Given the description of an element on the screen output the (x, y) to click on. 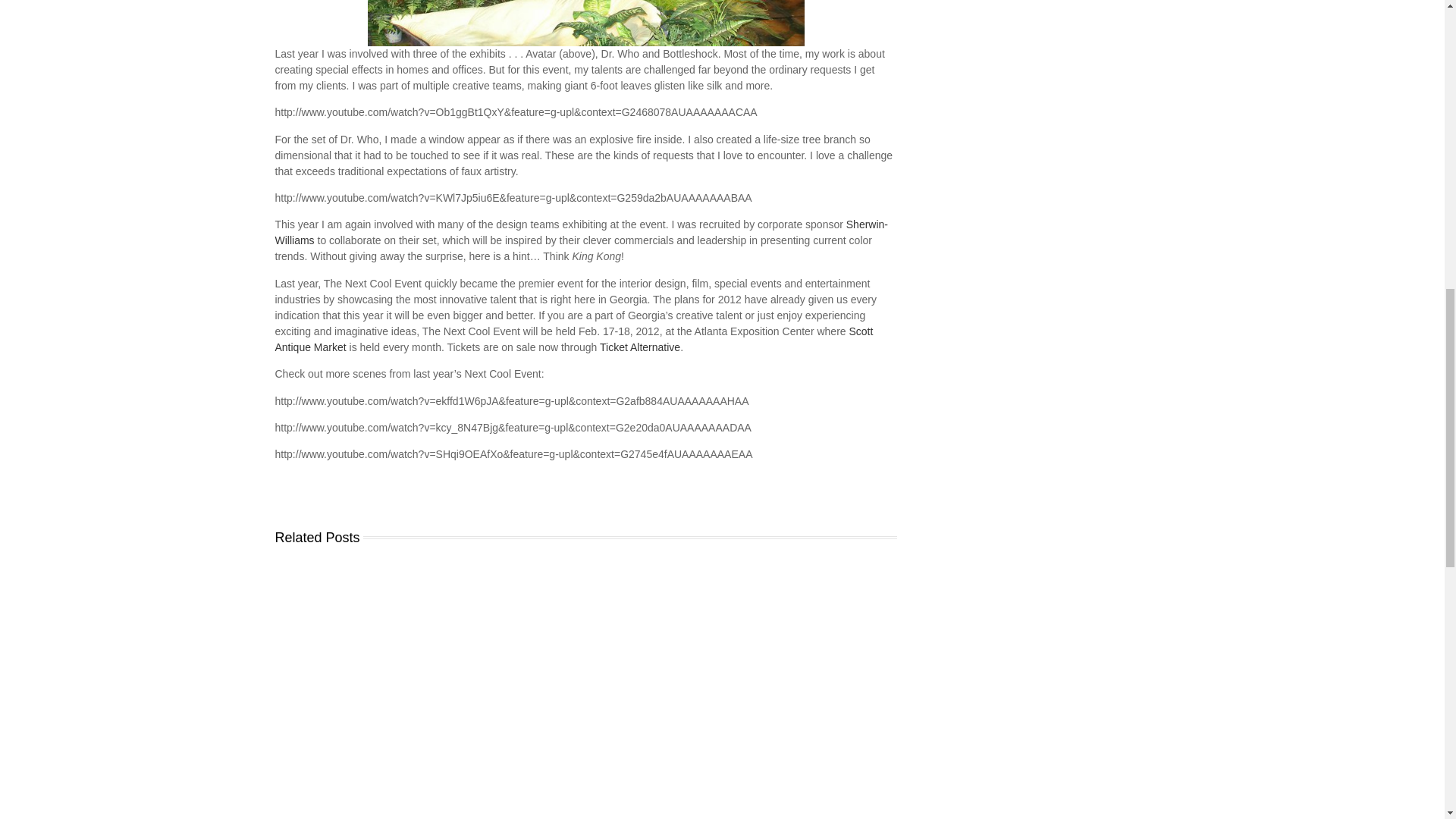
Avatarmural (584, 22)
